Given the description of an element on the screen output the (x, y) to click on. 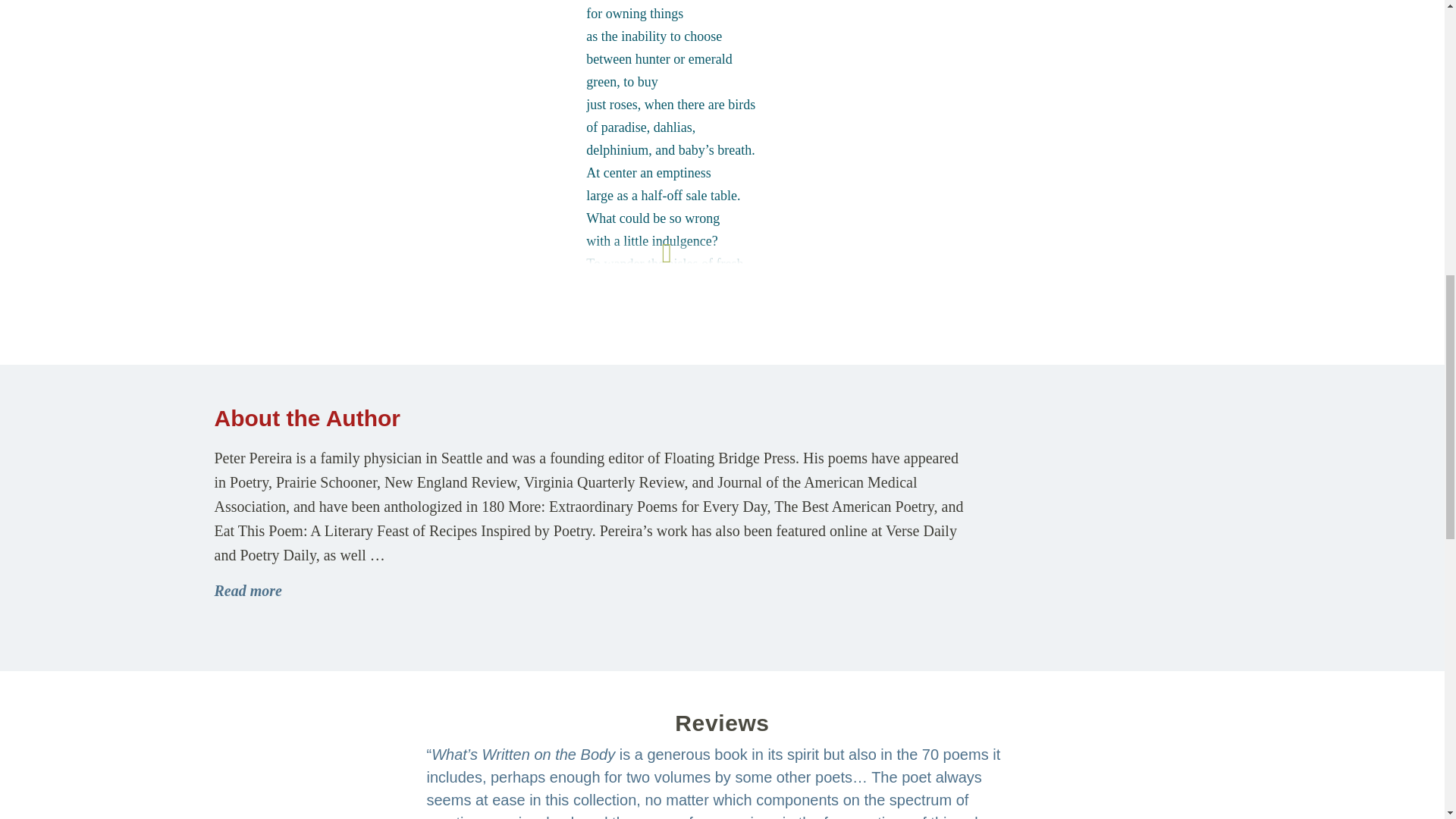
Read more (247, 590)
